Given the description of an element on the screen output the (x, y) to click on. 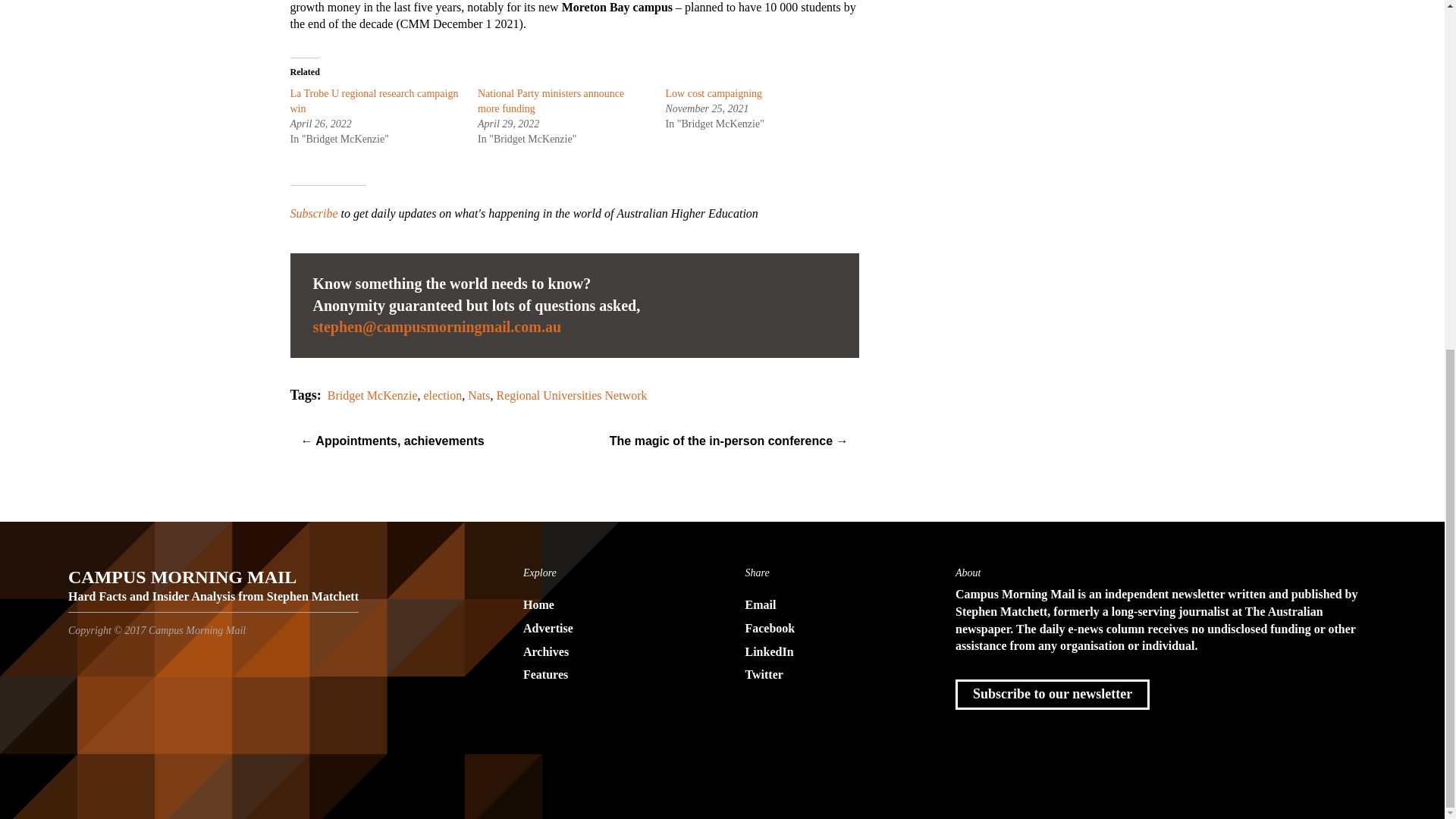
Features (611, 675)
Email (833, 605)
Bridget McKenzie (372, 395)
Home (611, 605)
Subscribe to our newsletter (1052, 694)
Features (611, 675)
Regional Universities Network (571, 395)
Advertise (611, 628)
National Party ministers announce more funding (550, 100)
Campus Morning Mail (213, 582)
National Party ministers announce more funding (550, 100)
Facebook (833, 628)
Nats (478, 395)
Subscribe (313, 213)
